Given the description of an element on the screen output the (x, y) to click on. 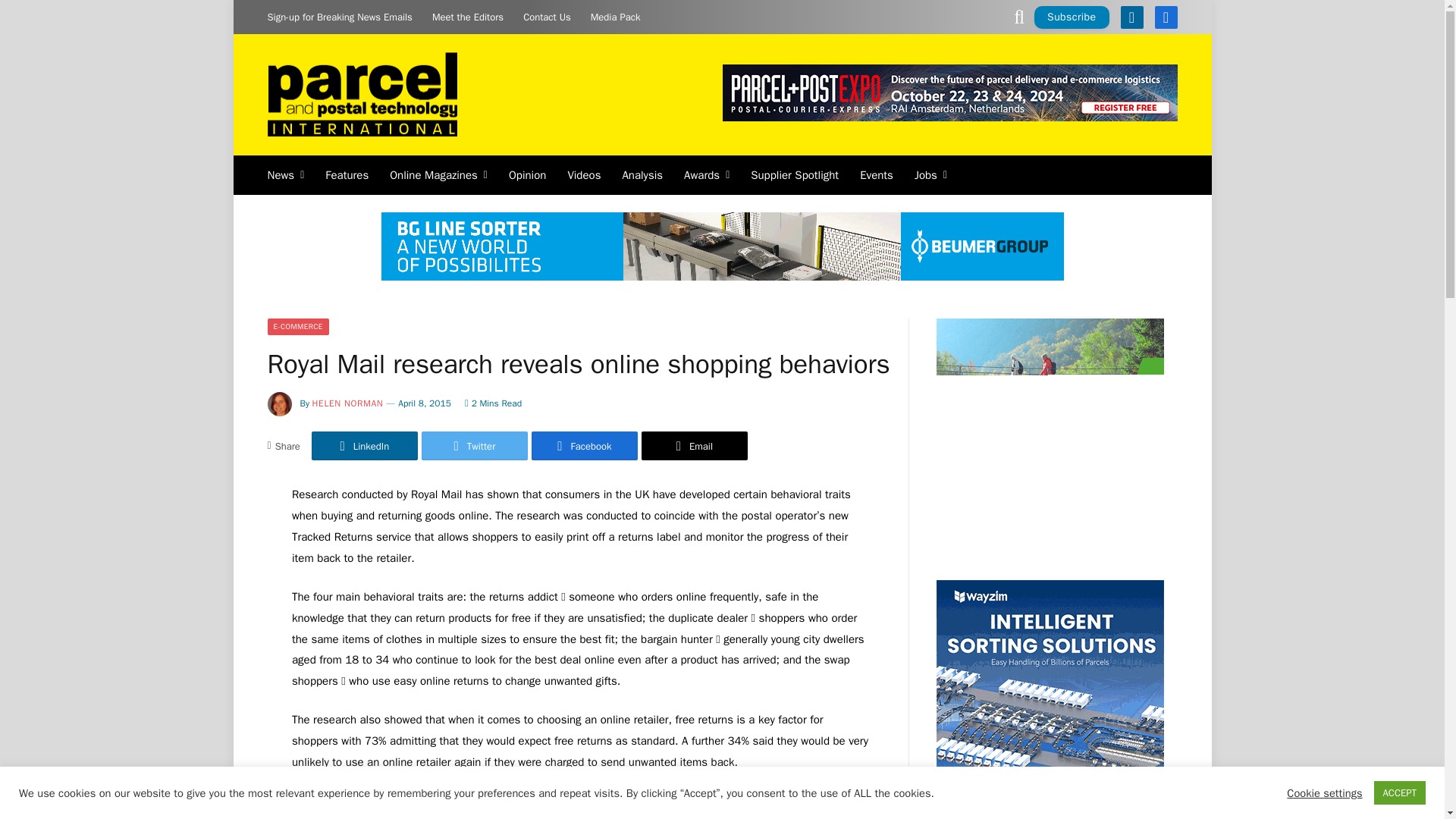
Share on Facebook (584, 445)
Parcel and Postal Technology International (361, 95)
Share on Twitter (474, 445)
Posts by Helen Norman (348, 403)
Share via Email (695, 445)
Share on LinkedIn (364, 445)
